Given the description of an element on the screen output the (x, y) to click on. 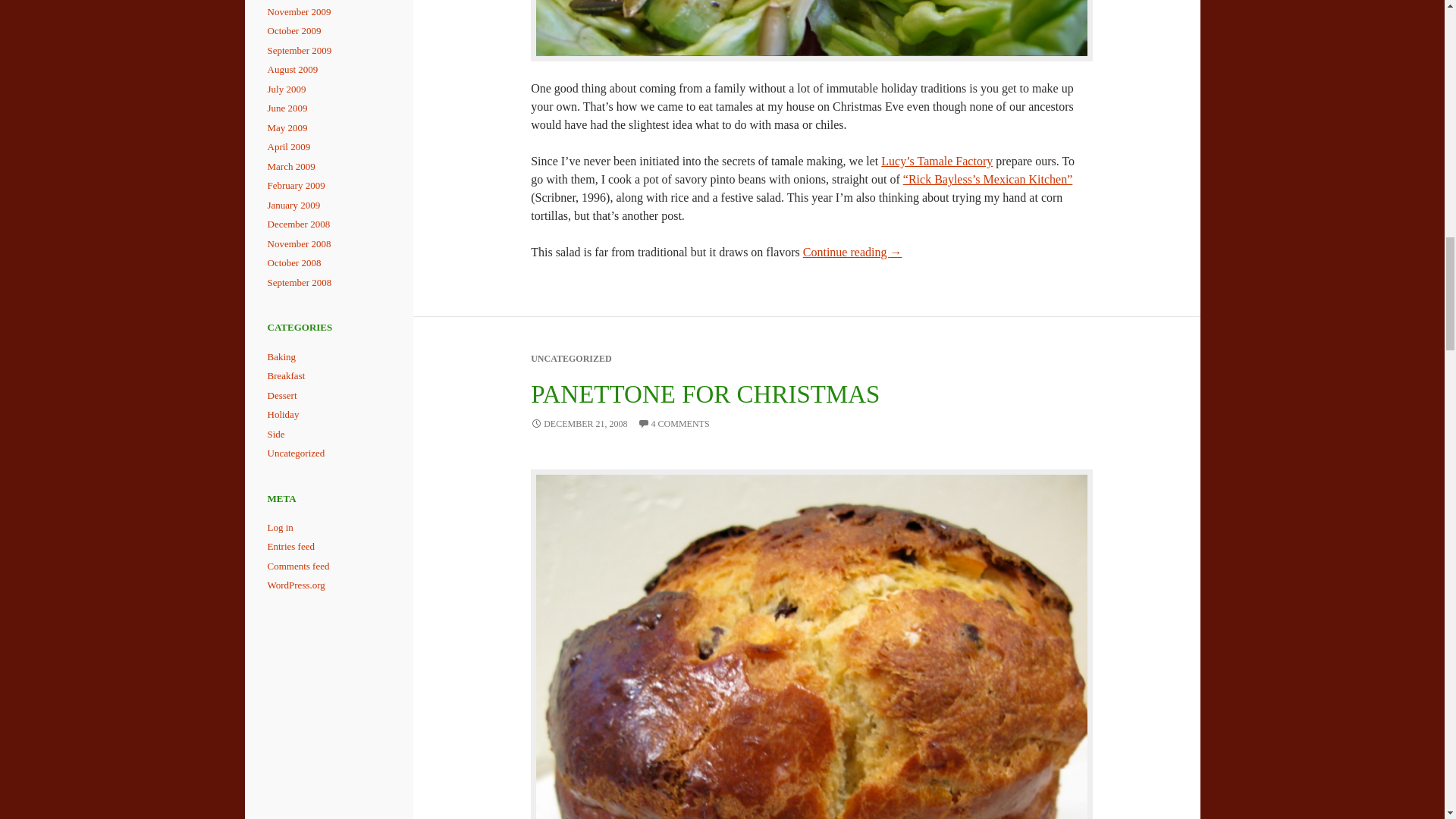
clementinesalad (812, 30)
4 COMMENTS (673, 423)
PANETTONE FOR CHRISTMAS (705, 393)
DECEMBER 21, 2008 (579, 423)
